Given the description of an element on the screen output the (x, y) to click on. 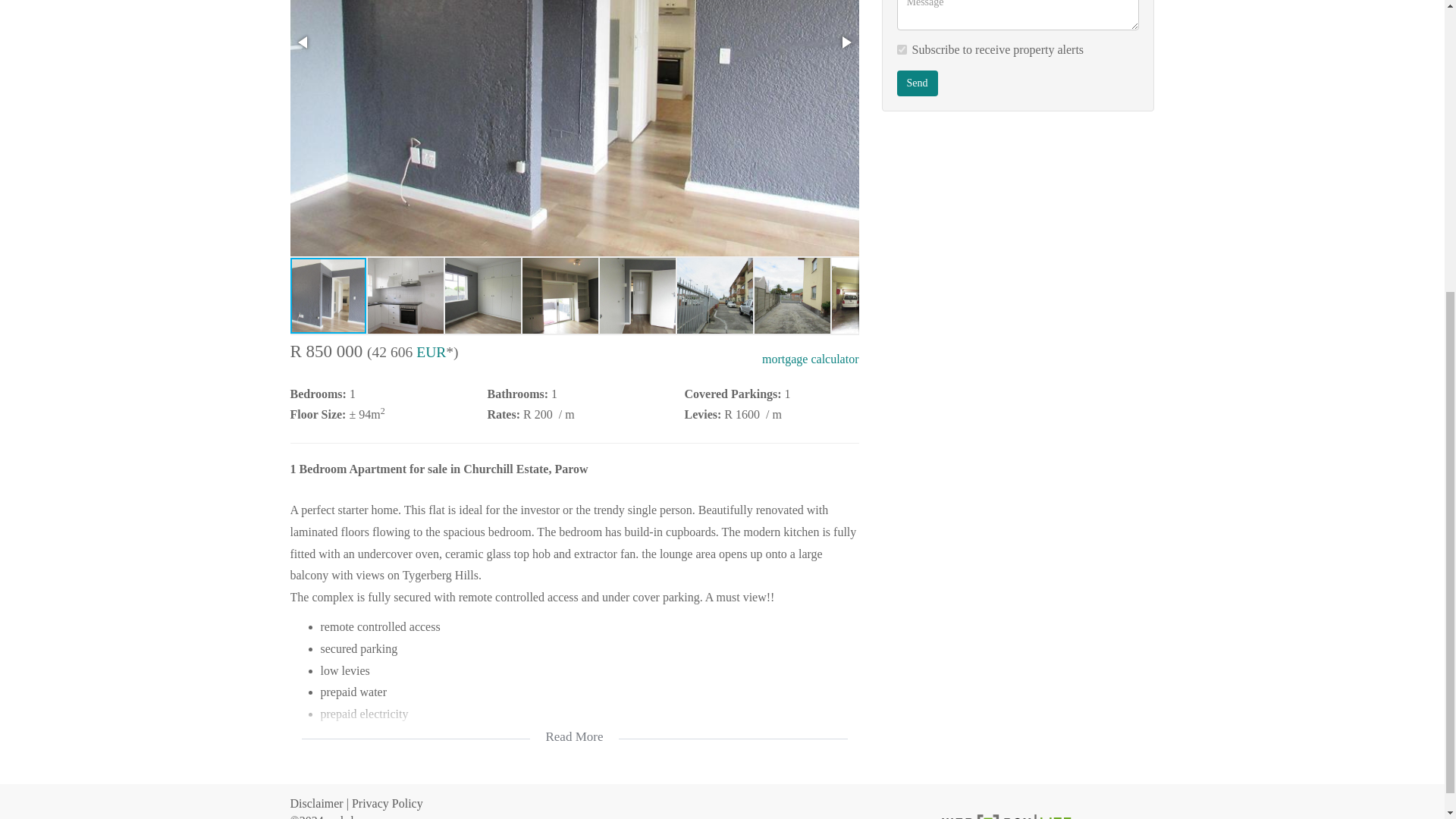
on (900, 49)
Disclaimer (315, 802)
Privacy Policy (387, 802)
Send (916, 83)
mortgage calculator (810, 358)
EUR (430, 351)
google map (1017, 255)
Read More (574, 726)
Read More (574, 726)
